Given the description of an element on the screen output the (x, y) to click on. 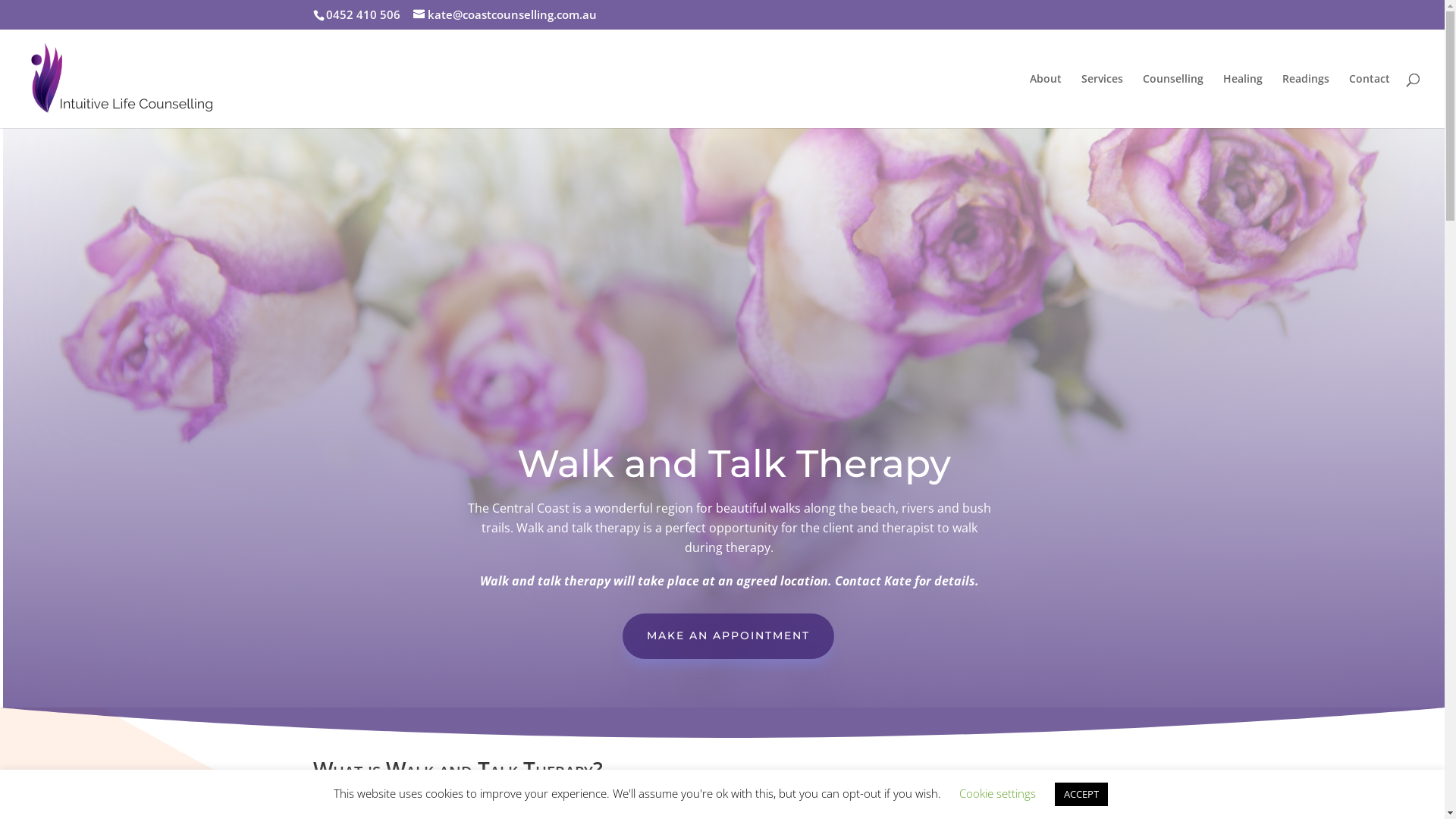
Readings Element type: text (1305, 99)
ACCEPT Element type: text (1080, 794)
Counselling Element type: text (1172, 99)
About Element type: text (1045, 99)
Services Element type: text (1102, 99)
MAKE AN APPOINTMENT Element type: text (728, 635)
Healing Element type: text (1242, 99)
Cookie settings Element type: text (996, 792)
kate@coastcounselling.com.au Element type: text (504, 13)
Contact Element type: text (1369, 99)
